Given the description of an element on the screen output the (x, y) to click on. 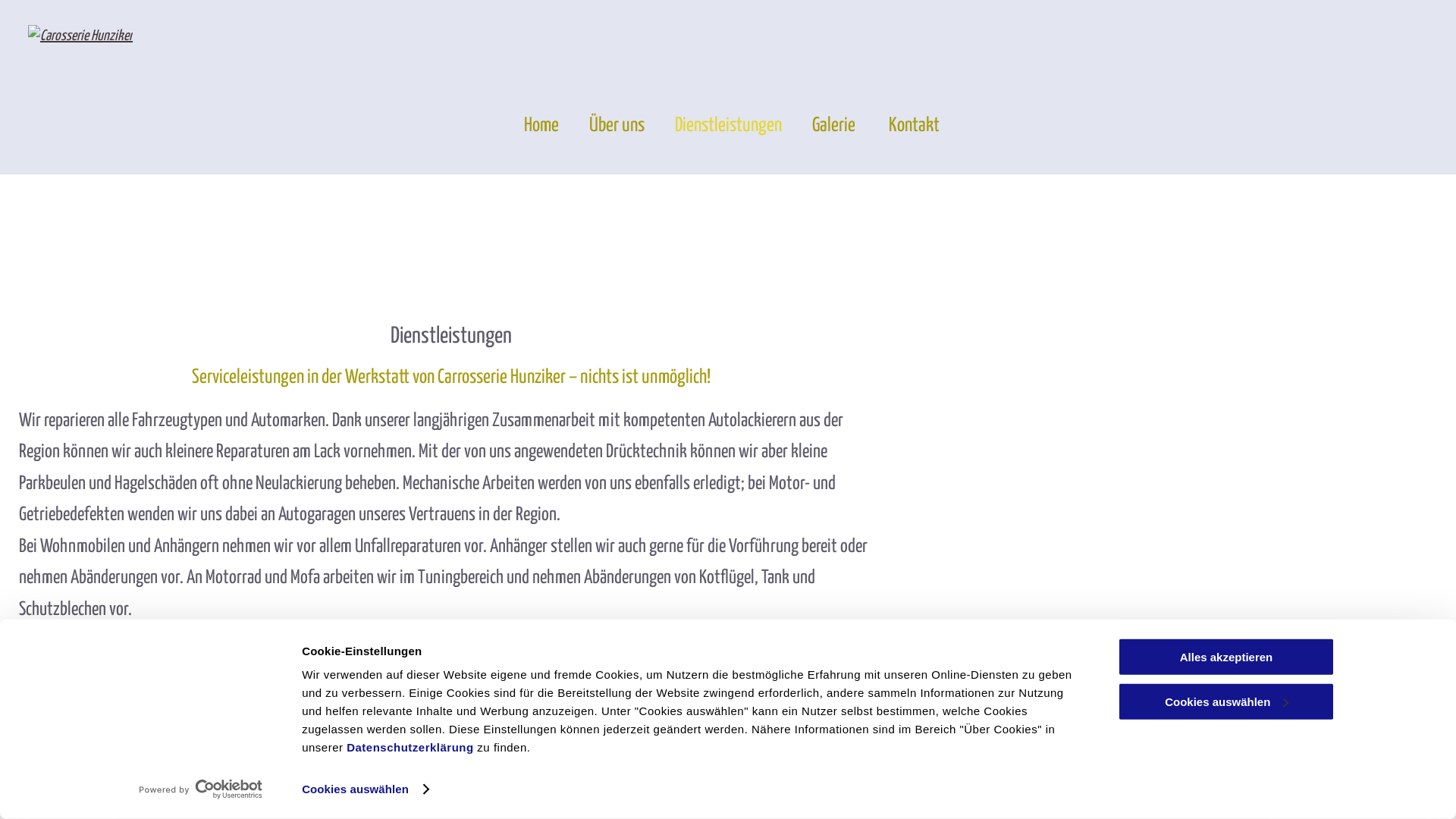
Kontakt Element type: text (898, 125)
Alles akzeptieren Element type: text (1225, 656)
Dienstleistungen Element type: text (712, 125)
Galerie Element type: text (819, 125)
Home Element type: text (525, 125)
